Given the description of an element on the screen output the (x, y) to click on. 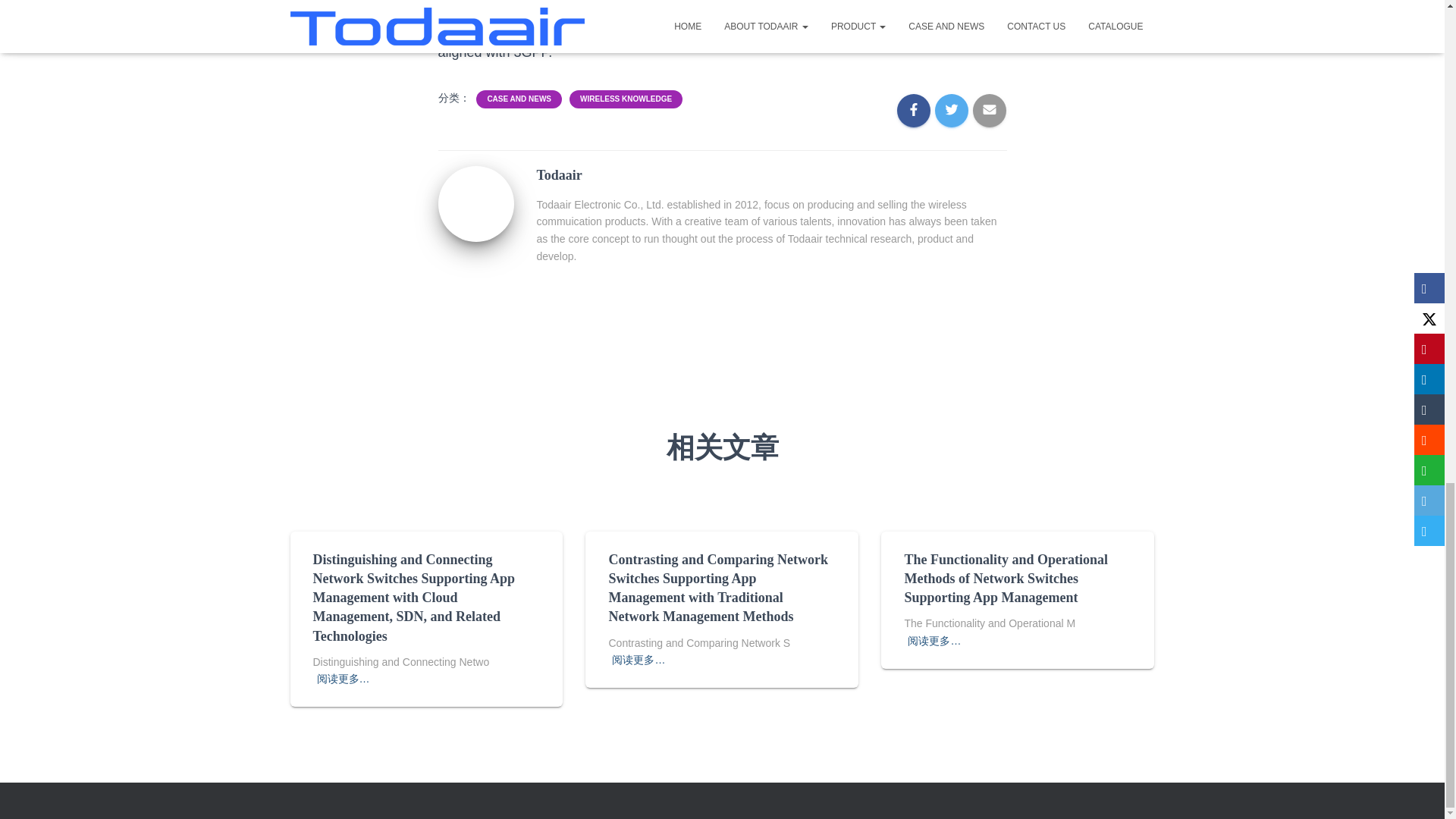
Todaair (475, 202)
CASE AND NEWS (518, 99)
WIRELESS KNOWLEDGE (625, 99)
